Given the description of an element on the screen output the (x, y) to click on. 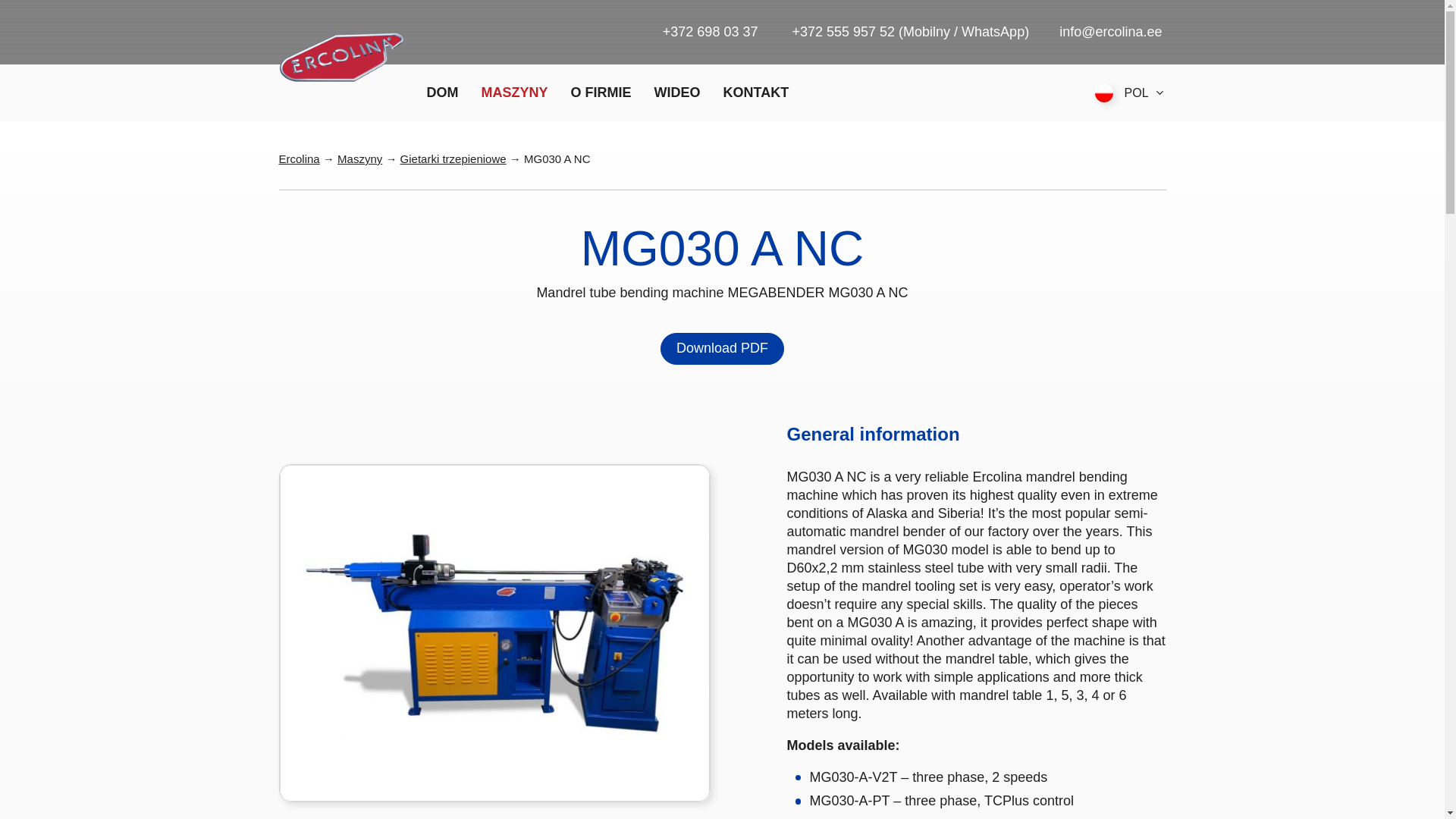
DOM (442, 92)
Ercolina (299, 158)
Gietarki trzepieniowe (453, 158)
Maszyny (359, 158)
Go to Ercolina. (299, 158)
Go to the Gietarki trzepieniowe Kategooria archives. (453, 158)
Download PDF (722, 348)
WIDEO (676, 92)
KONTAKT (756, 92)
O FIRMIE (600, 92)
Go to Maszyny. (359, 158)
POL (1130, 92)
MASZYNY (514, 92)
